Given the description of an element on the screen output the (x, y) to click on. 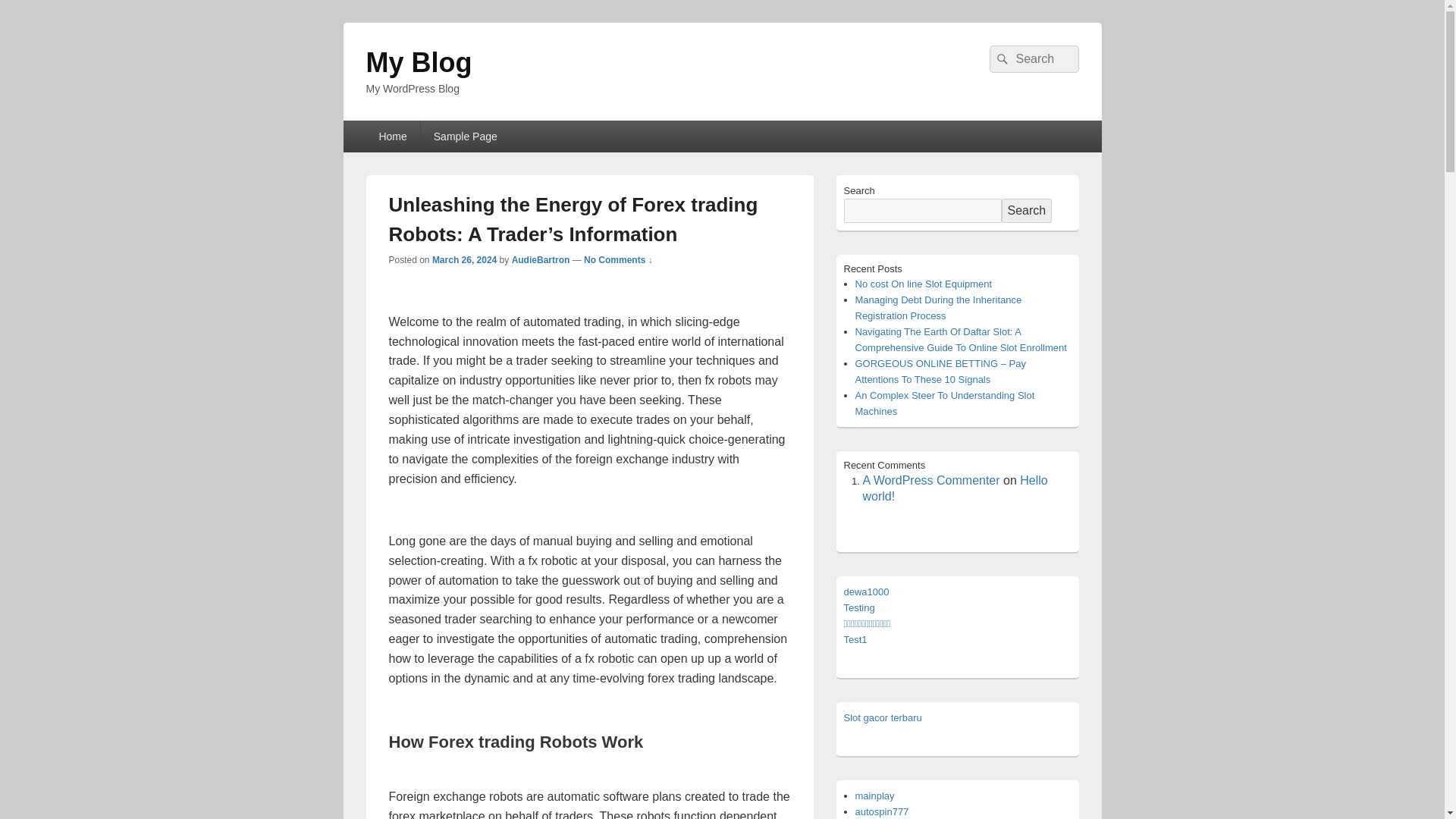
mainplay (875, 795)
March 26, 2024 (464, 259)
Search for: (1033, 58)
Test1 (854, 639)
dewa1000 (865, 591)
6:22 pm (464, 259)
A WordPress Commenter (931, 480)
Sample Page (465, 136)
Hello world! (955, 488)
